Given the description of an element on the screen output the (x, y) to click on. 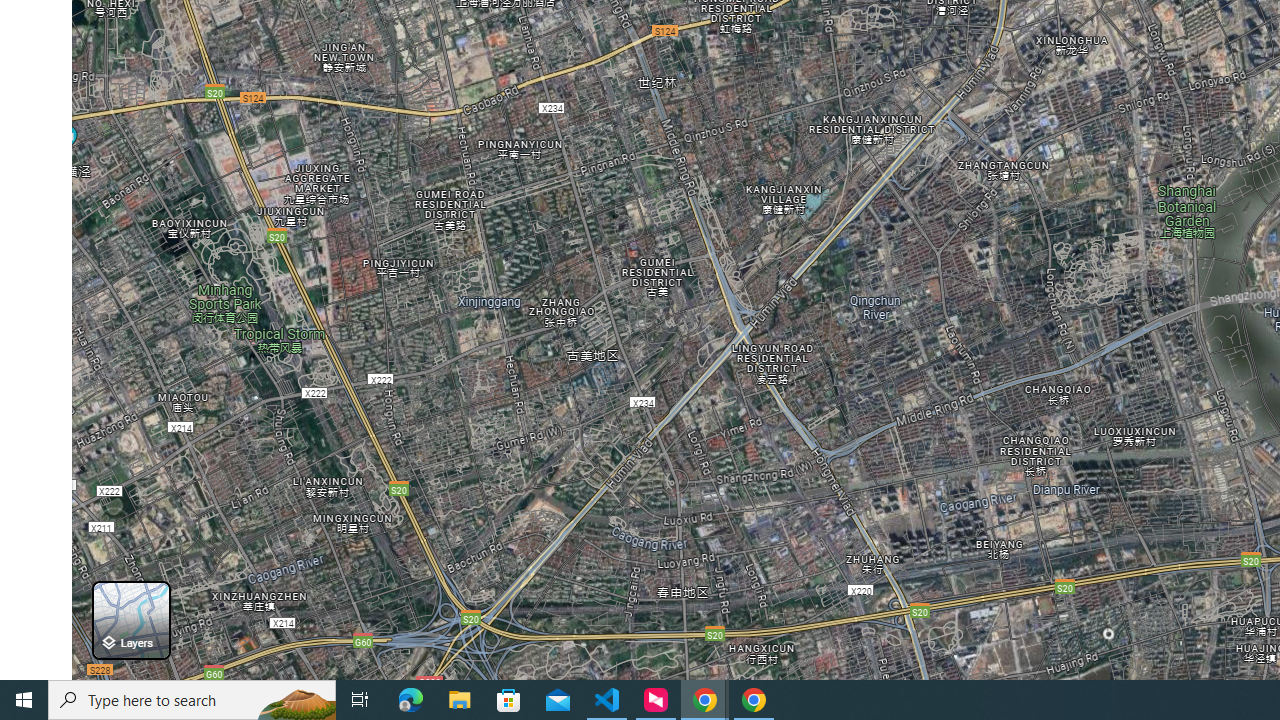
Layers (130, 620)
